Given the description of an element on the screen output the (x, y) to click on. 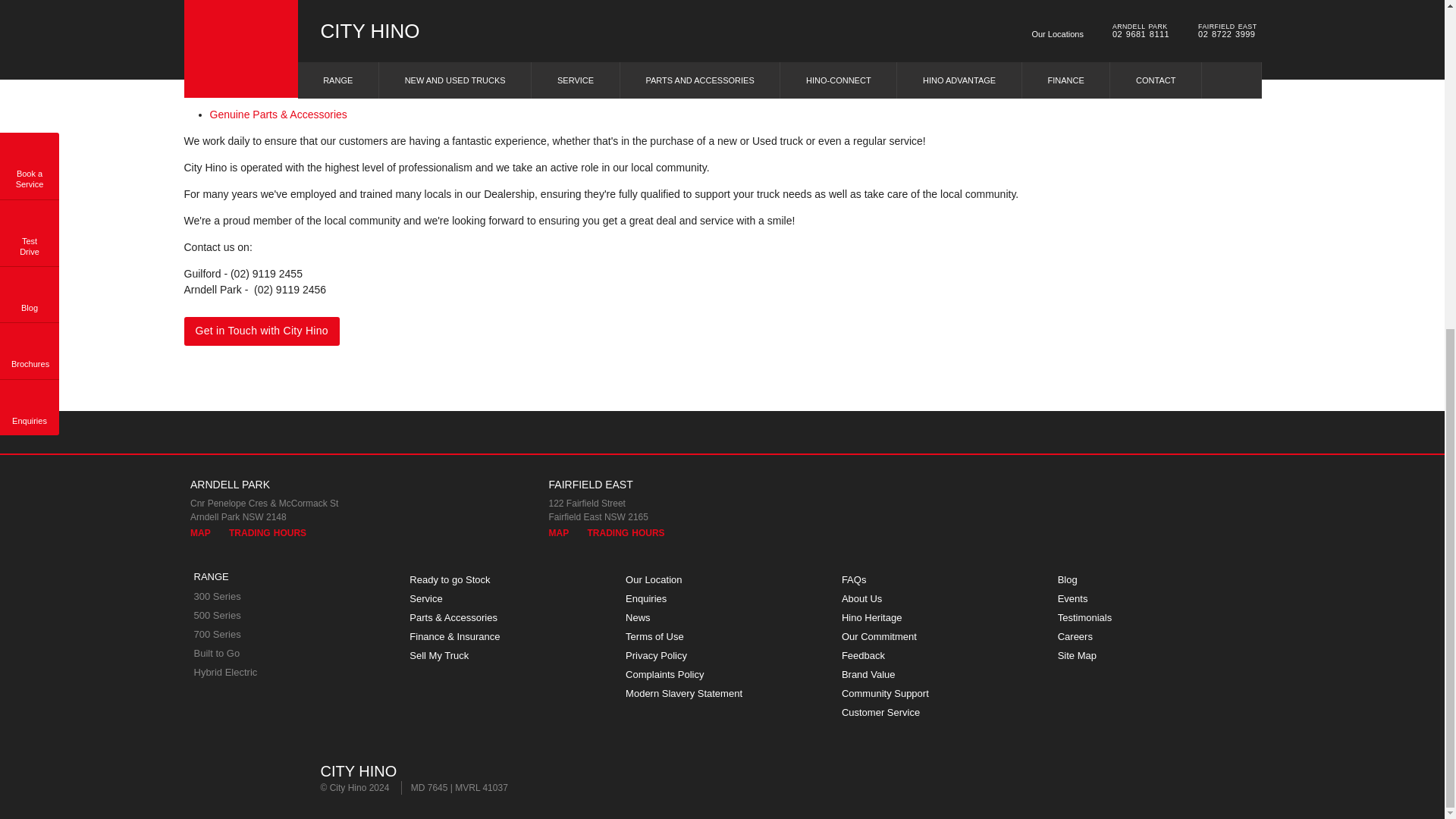
Follow Us on Twitter (1115, 432)
Follow Us on Instagram (1246, 432)
Return to the Home Page (210, 778)
Supercars (272, 778)
Visit our YouTube Channel (1202, 432)
Follow Us on LinkedIn (1159, 432)
Become a Friend on Facebook (1073, 432)
